Given the description of an element on the screen output the (x, y) to click on. 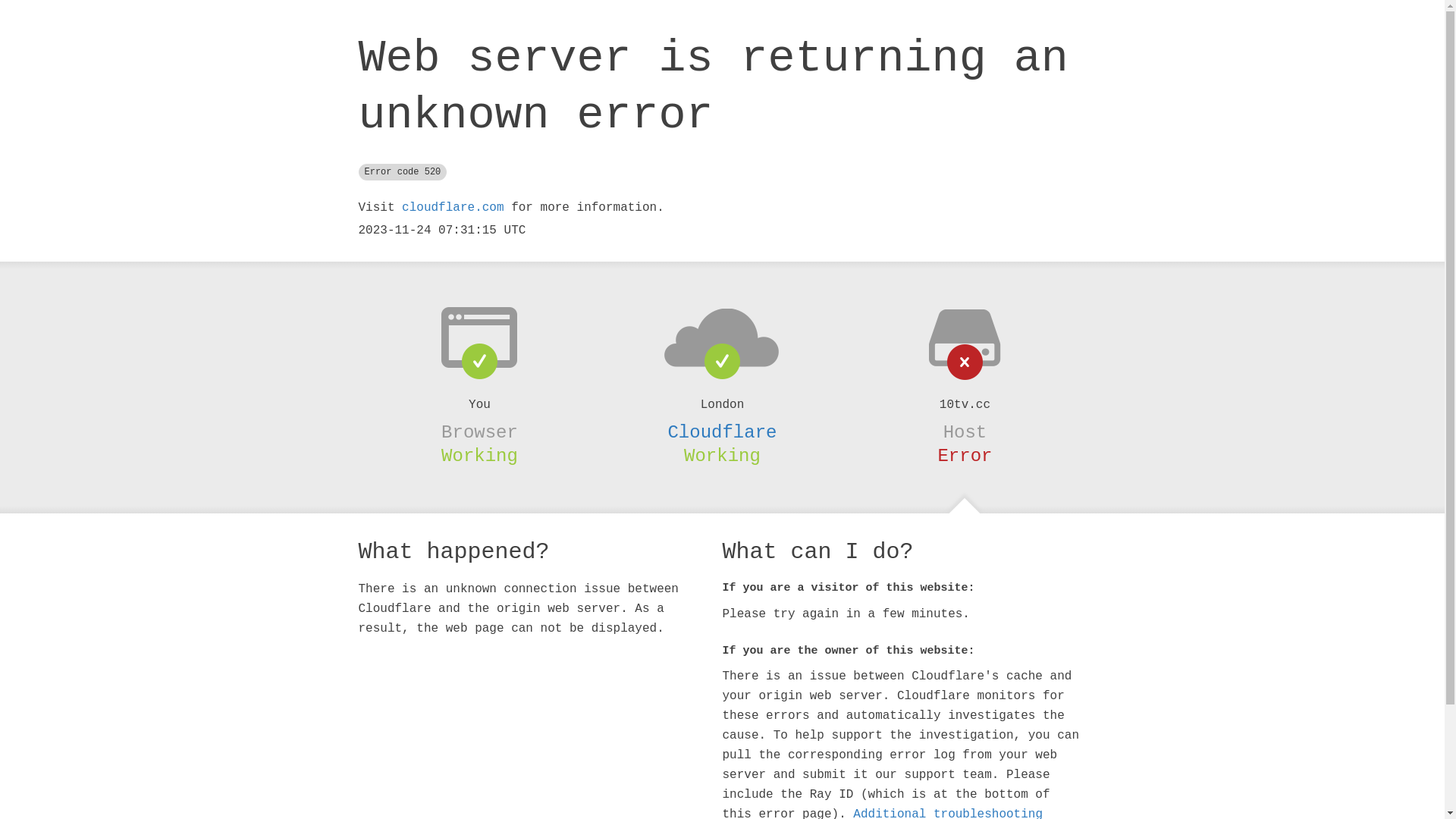
Cloudflare Element type: text (721, 432)
cloudflare.com Element type: text (452, 207)
